Given the description of an element on the screen output the (x, y) to click on. 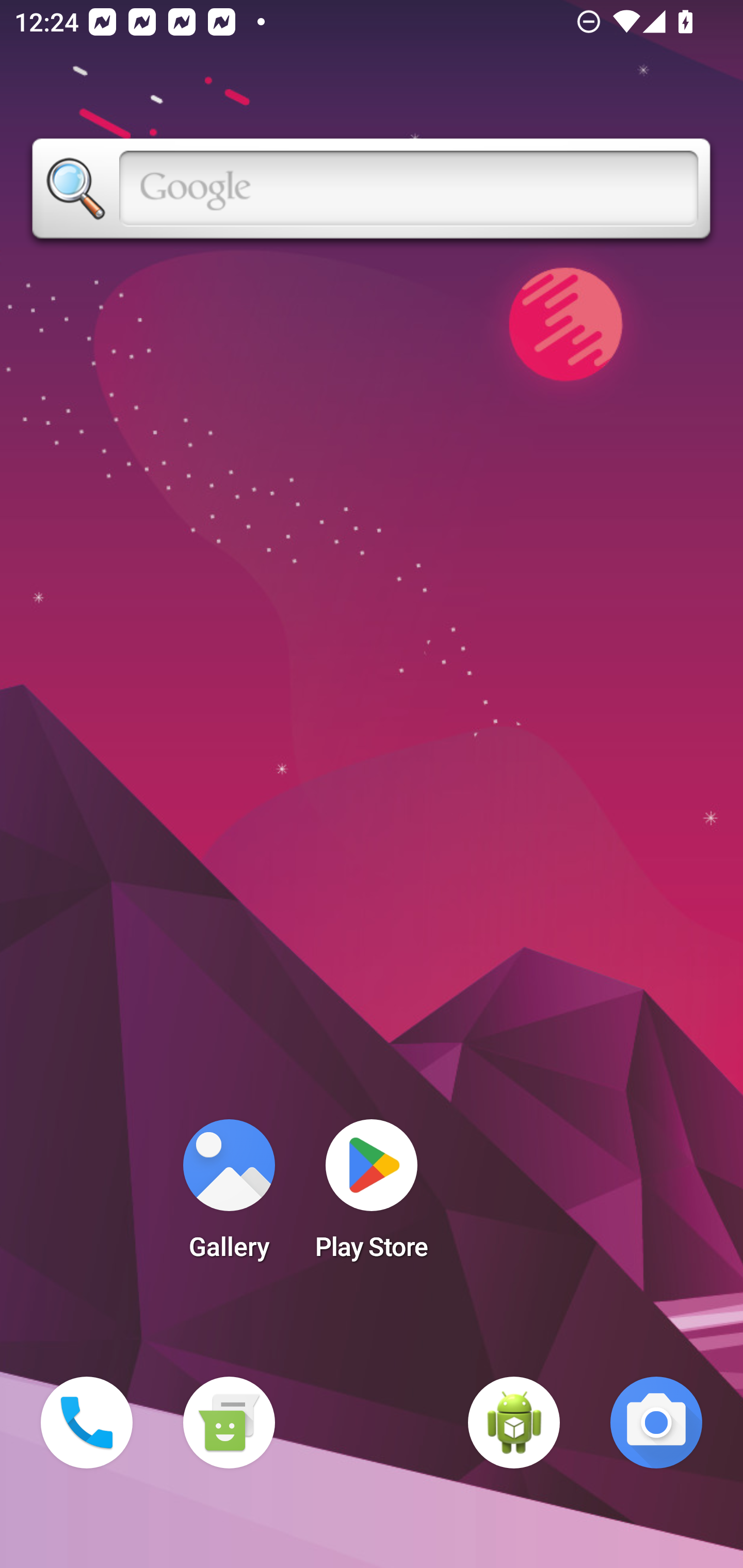
Gallery (228, 1195)
Play Store (371, 1195)
Phone (86, 1422)
Messaging (228, 1422)
WebView Browser Tester (513, 1422)
Camera (656, 1422)
